Given the description of an element on the screen output the (x, y) to click on. 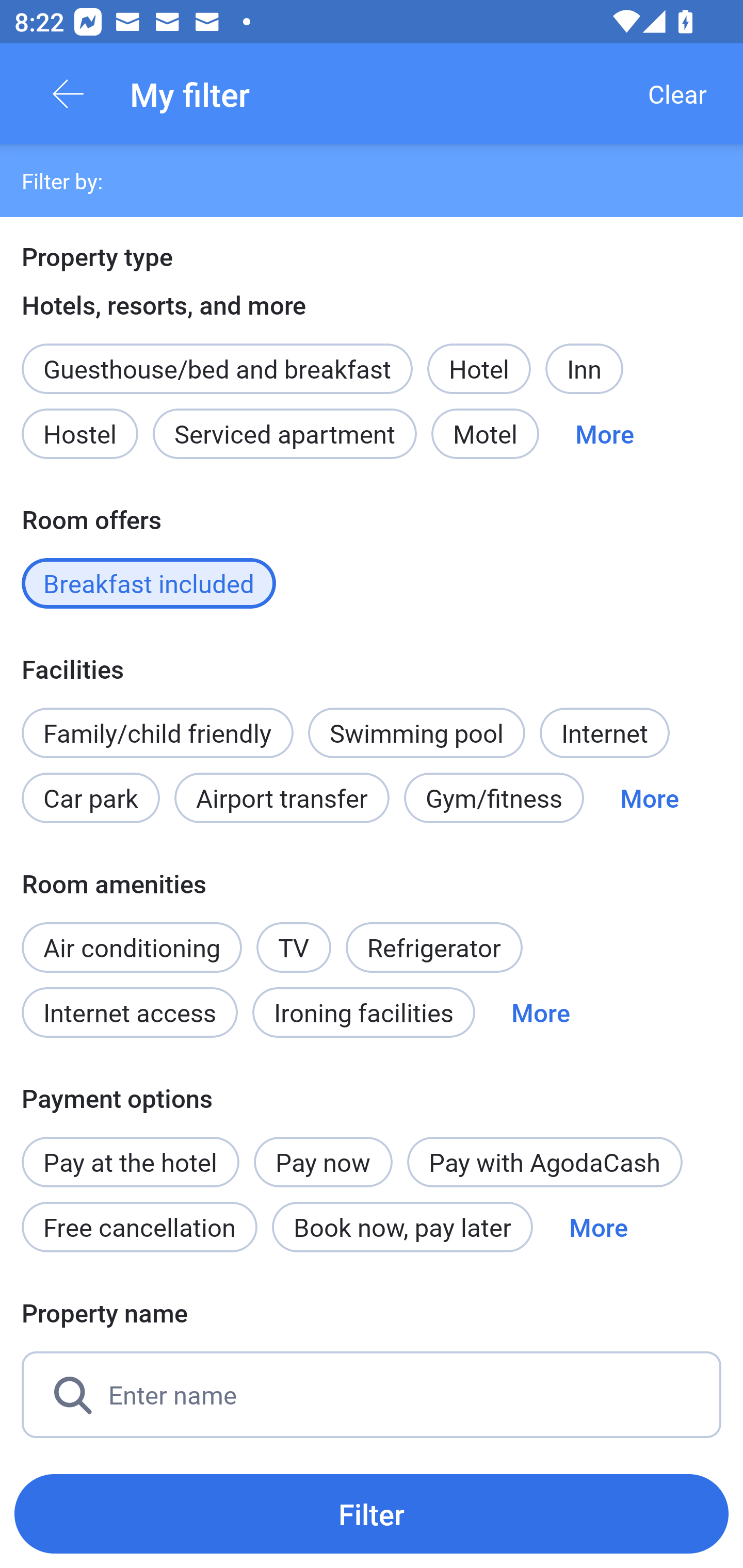
Clear (676, 93)
Guesthouse/bed and breakfast (217, 369)
Hotel (479, 369)
Inn (583, 369)
Hostel (79, 433)
Serviced apartment (284, 433)
Motel (485, 433)
More (604, 433)
Family/child friendly (157, 732)
Swimming pool (416, 732)
Internet (604, 732)
Car park (90, 798)
Airport transfer (281, 798)
Gym/fitness (493, 798)
More (649, 798)
Air conditioning (131, 947)
TV (294, 947)
Refrigerator (433, 947)
Internet access (129, 1012)
Ironing facilities (363, 1012)
More (540, 1012)
Pay at the hotel (130, 1150)
Pay now (323, 1161)
Pay with AgodaCash (544, 1161)
Free cancellation (139, 1226)
Book now, pay later (401, 1226)
More (598, 1226)
Enter name (371, 1394)
Filter (371, 1513)
